Given the description of an element on the screen output the (x, y) to click on. 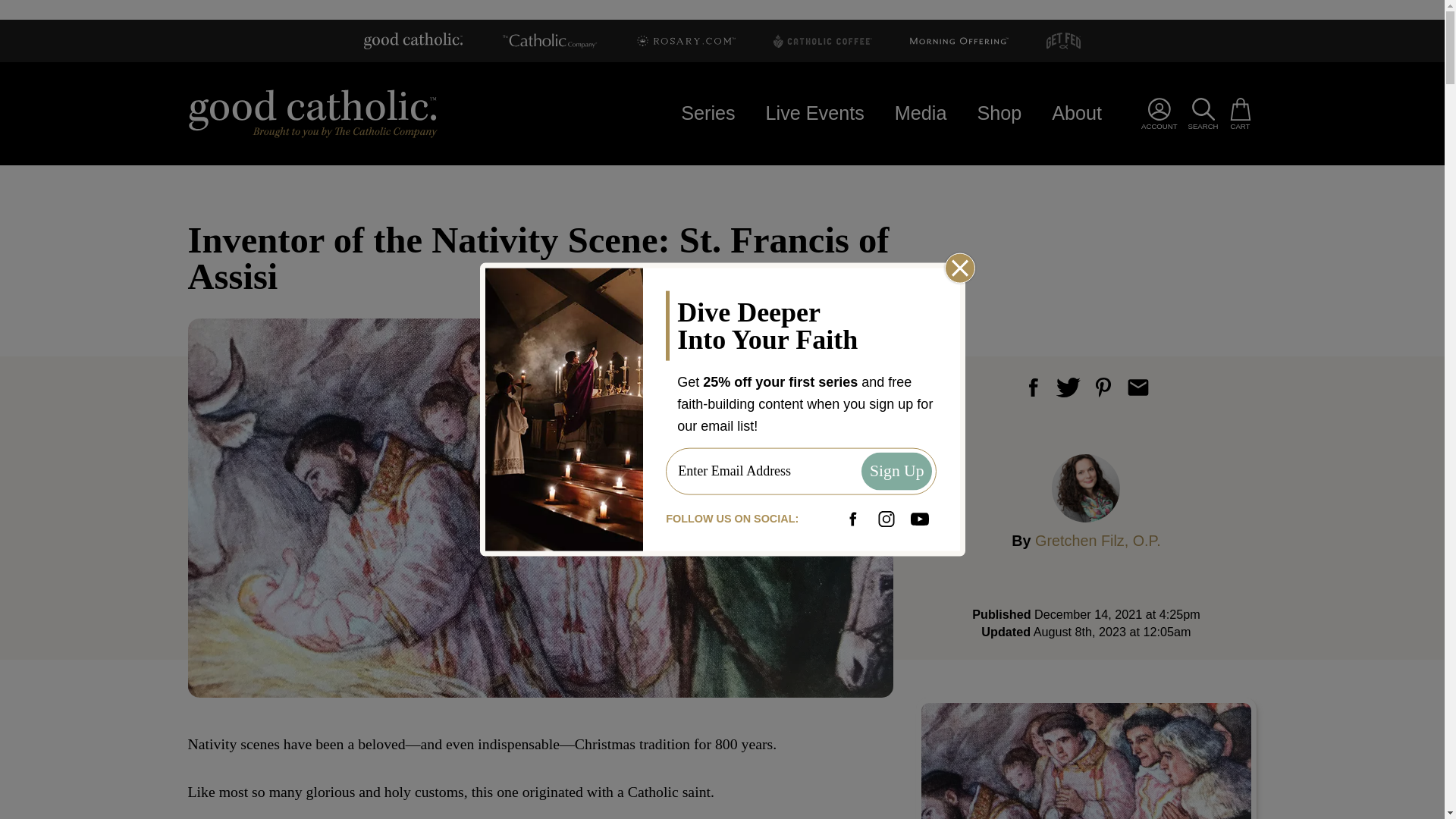
User Account (1158, 114)
Sign Up (896, 471)
Good Catholic (312, 112)
Media (920, 113)
About (1076, 113)
Posts by Gretchen Filz, O.P. (1097, 540)
Shop (998, 113)
Series (707, 113)
Live Events (815, 113)
